Given the description of an element on the screen output the (x, y) to click on. 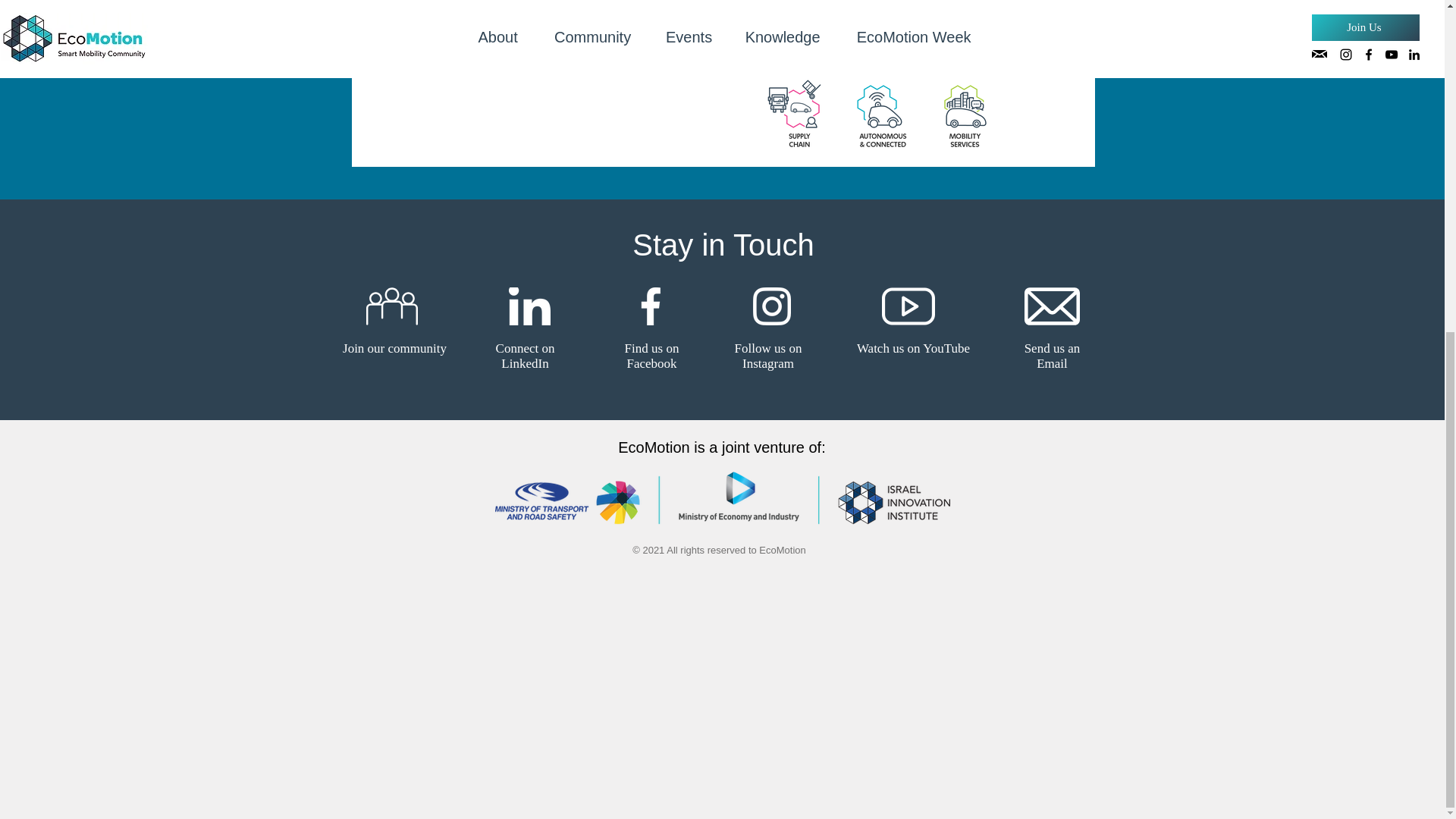
Supply Chain (797, 115)
Mobility Services (964, 115)
